Given the description of an element on the screen output the (x, y) to click on. 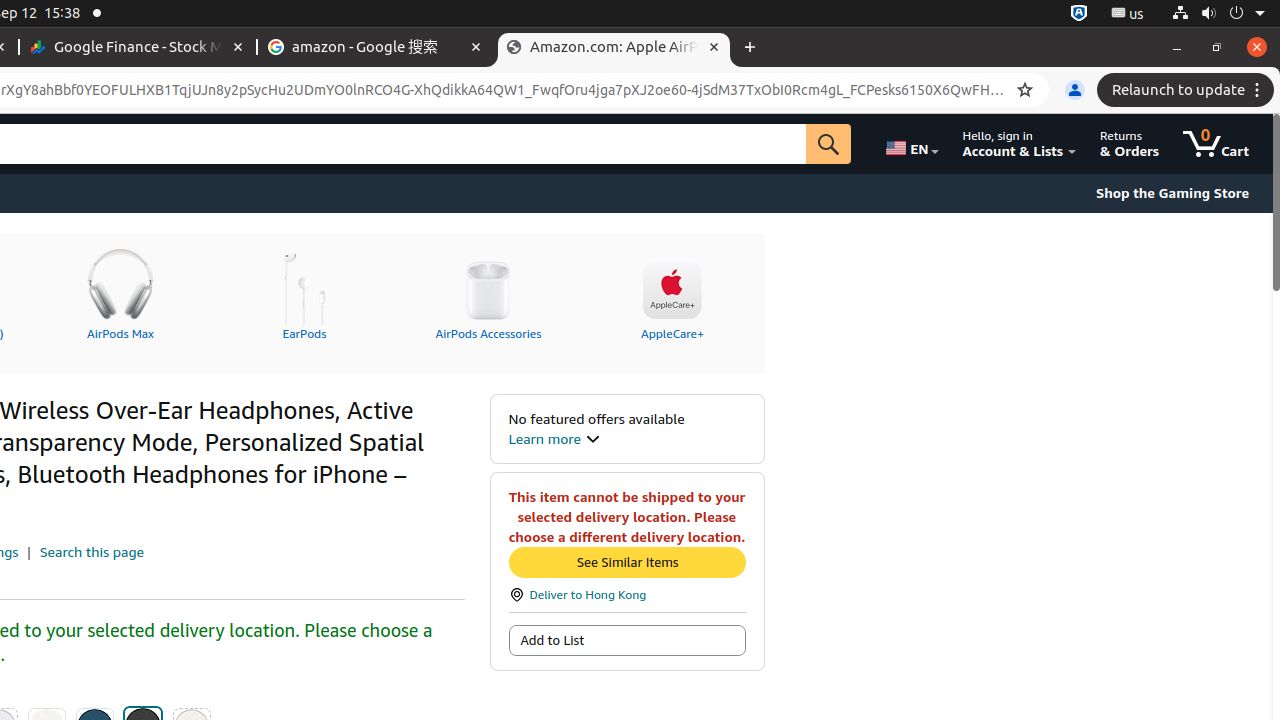
AirPods Max Element type: link (120, 291)
Relaunch to update Element type: push-button (1188, 90)
Learn more Element type: push-button (554, 438)
:1.72/StatusNotifierItem Element type: menu (1079, 13)
You Element type: push-button (1075, 90)
